Given the description of an element on the screen output the (x, y) to click on. 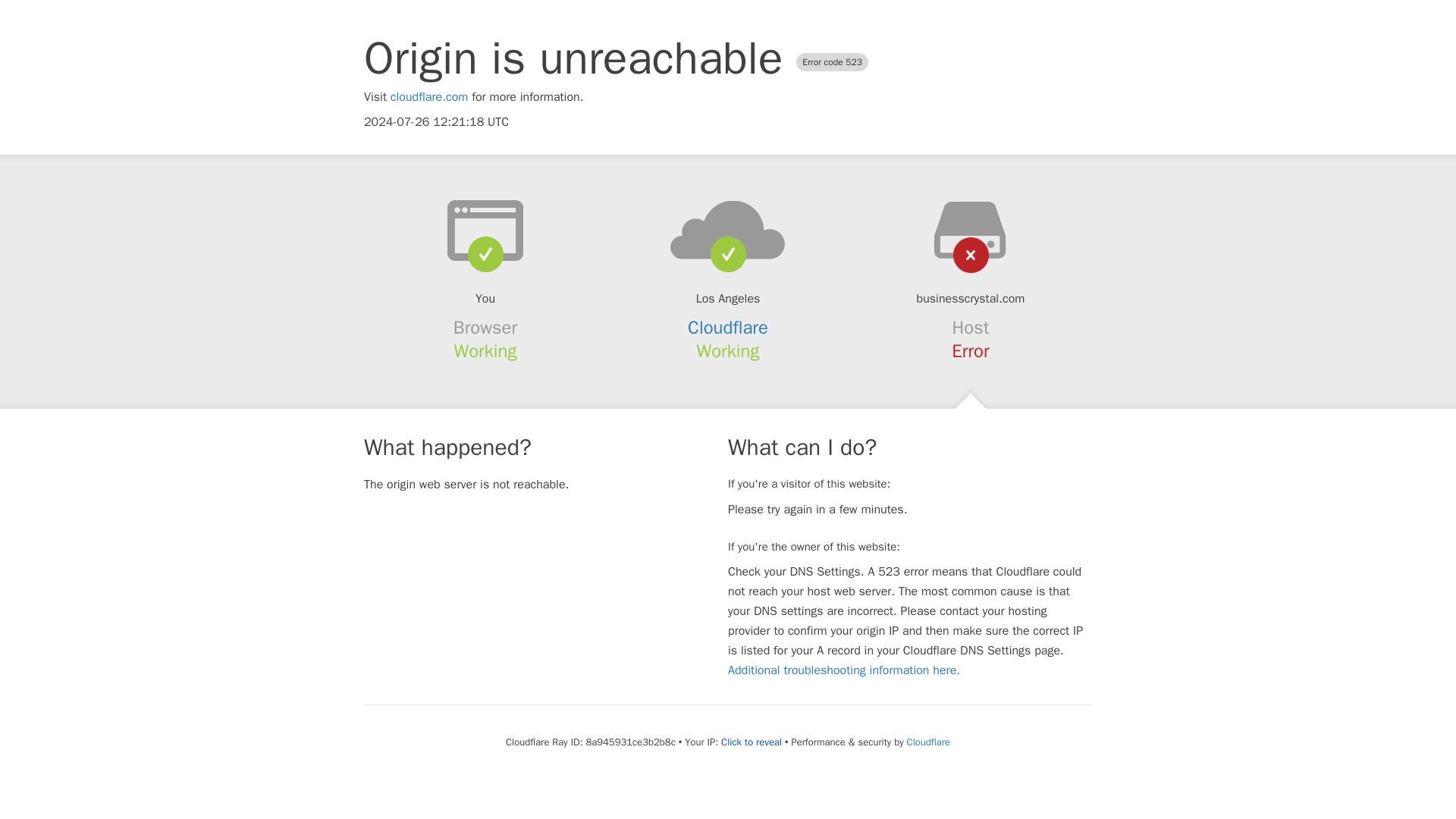
Click to reveal (750, 742)
Additional troubleshooting information here. (843, 670)
Cloudflare (928, 741)
Cloudflare (727, 327)
cloudflare.com (429, 96)
